Given the description of an element on the screen output the (x, y) to click on. 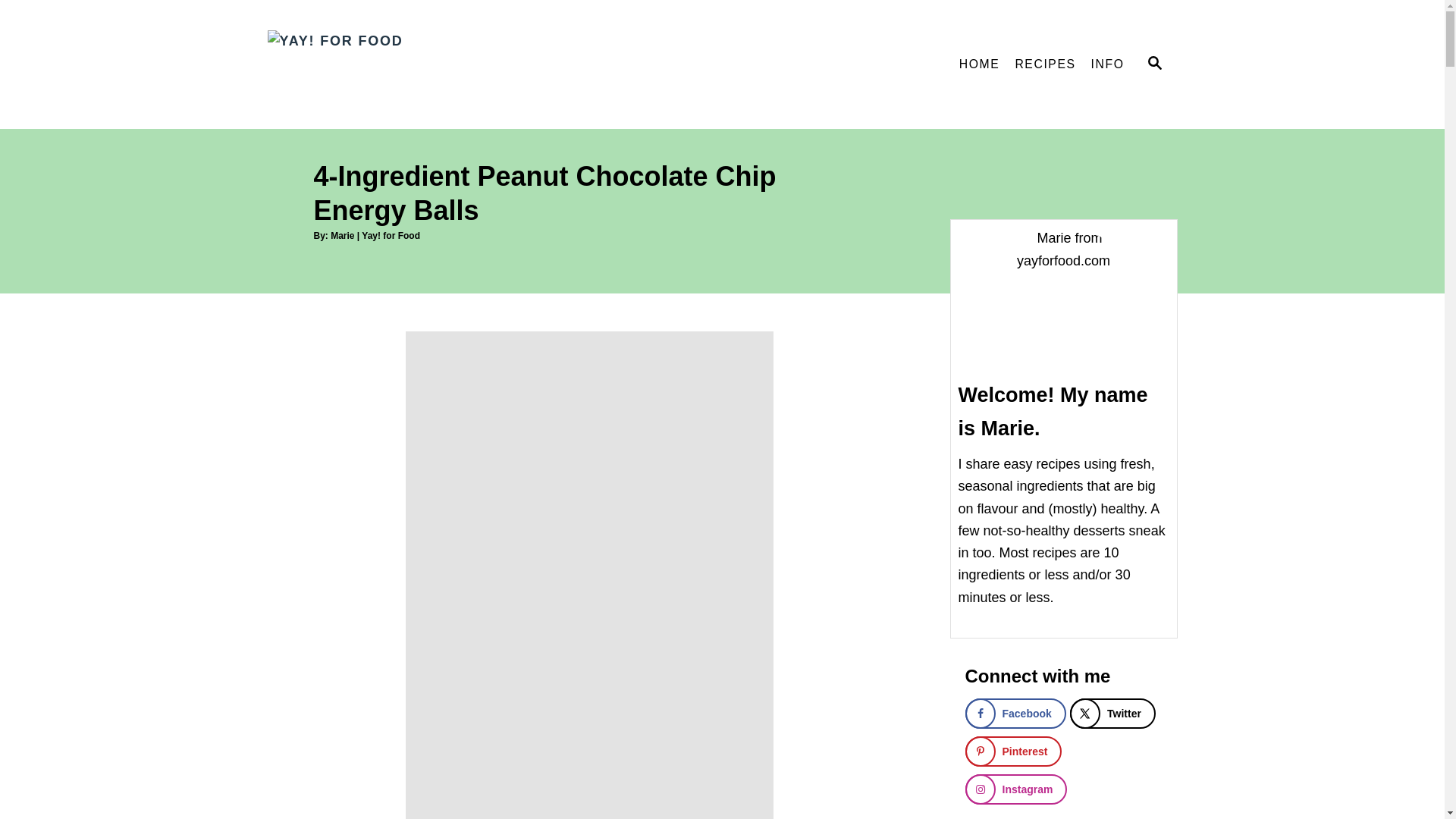
SEARCH (1153, 63)
HOME (979, 64)
Follow on Instagram (1015, 788)
Follow on Facebook (1014, 713)
Follow on X (1113, 713)
Yay! For Food (403, 64)
Follow on Pinterest (1012, 751)
INFO (1107, 64)
RECIPES (1045, 64)
